Given the description of an element on the screen output the (x, y) to click on. 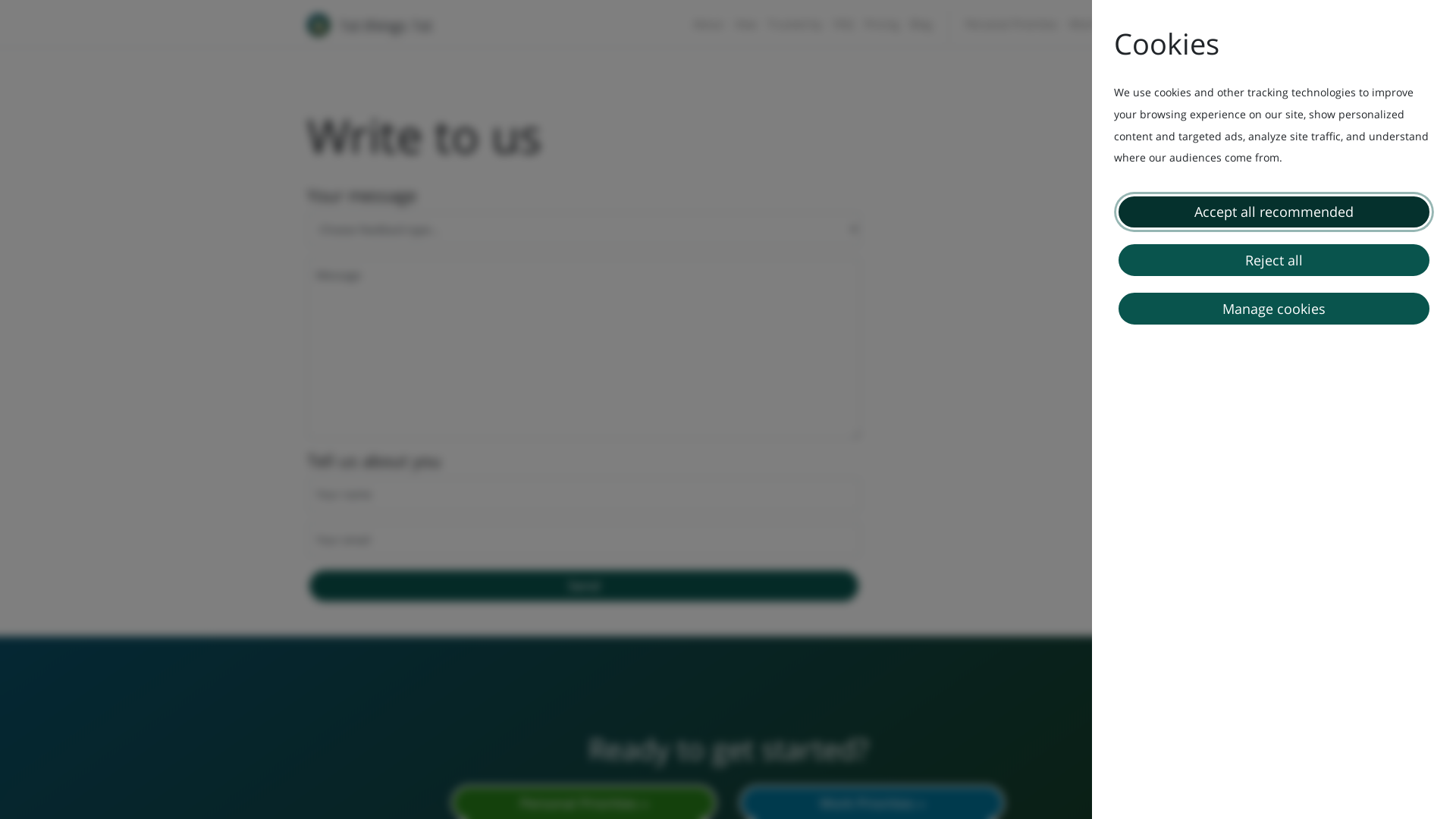
Trusted by Element type: text (794, 24)
Personal Priorities Element type: text (1011, 24)
1st things 1st Element type: text (369, 24)
Accept all recommended Element type: text (1273, 211)
Pricing Element type: text (881, 24)
Reject all Element type: text (1273, 259)
Blog Element type: text (920, 24)
FAQ Element type: text (842, 24)
How Element type: text (745, 24)
Work Priorities Element type: text (1105, 24)
Manage cookies Element type: text (1273, 308)
About Element type: text (707, 24)
